Given the description of an element on the screen output the (x, y) to click on. 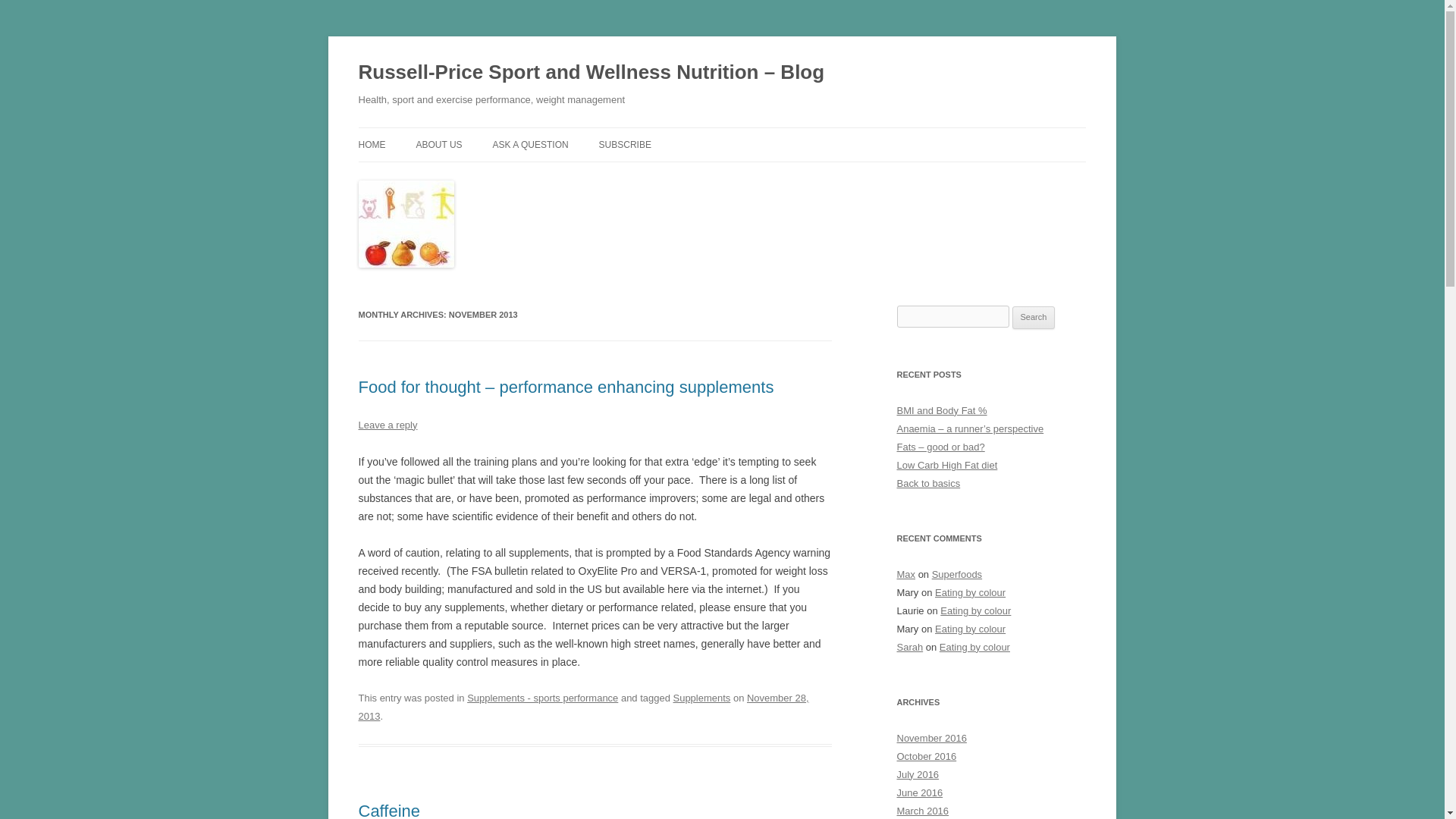
5:26 pm (583, 706)
Skip to content (757, 132)
Search (1033, 317)
SUBSCRIBE (624, 144)
ASK A QUESTION (531, 144)
Leave a reply (387, 424)
Supplements (701, 697)
Low Carb High Fat diet (946, 464)
Supplements - sports performance (542, 697)
Search (1033, 317)
ABOUT US (437, 144)
Caffeine (389, 810)
November 28, 2013 (583, 706)
Permalink to Caffeine (389, 810)
Skip to content (757, 132)
